Given the description of an element on the screen output the (x, y) to click on. 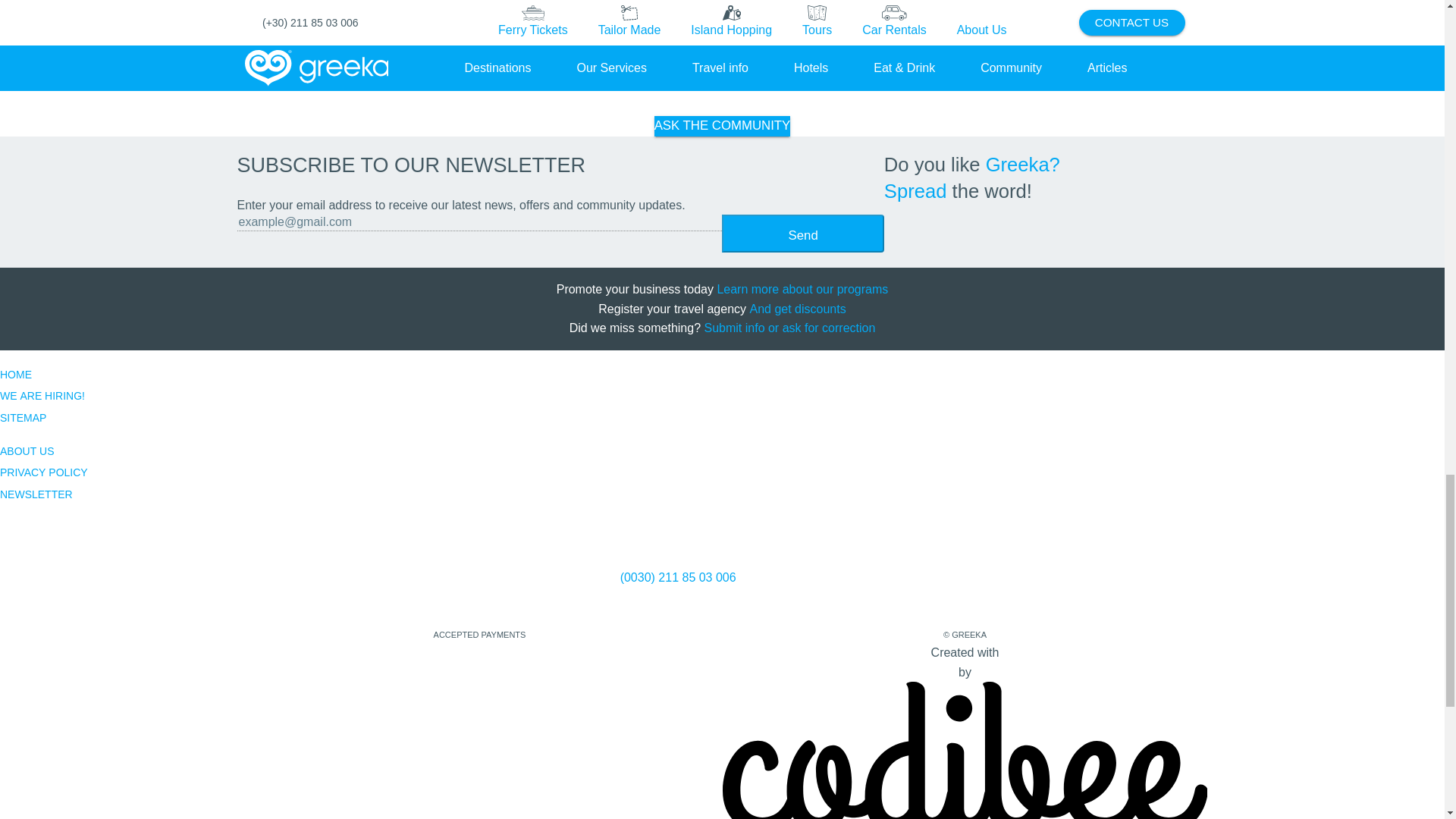
Send (802, 233)
